Given the description of an element on the screen output the (x, y) to click on. 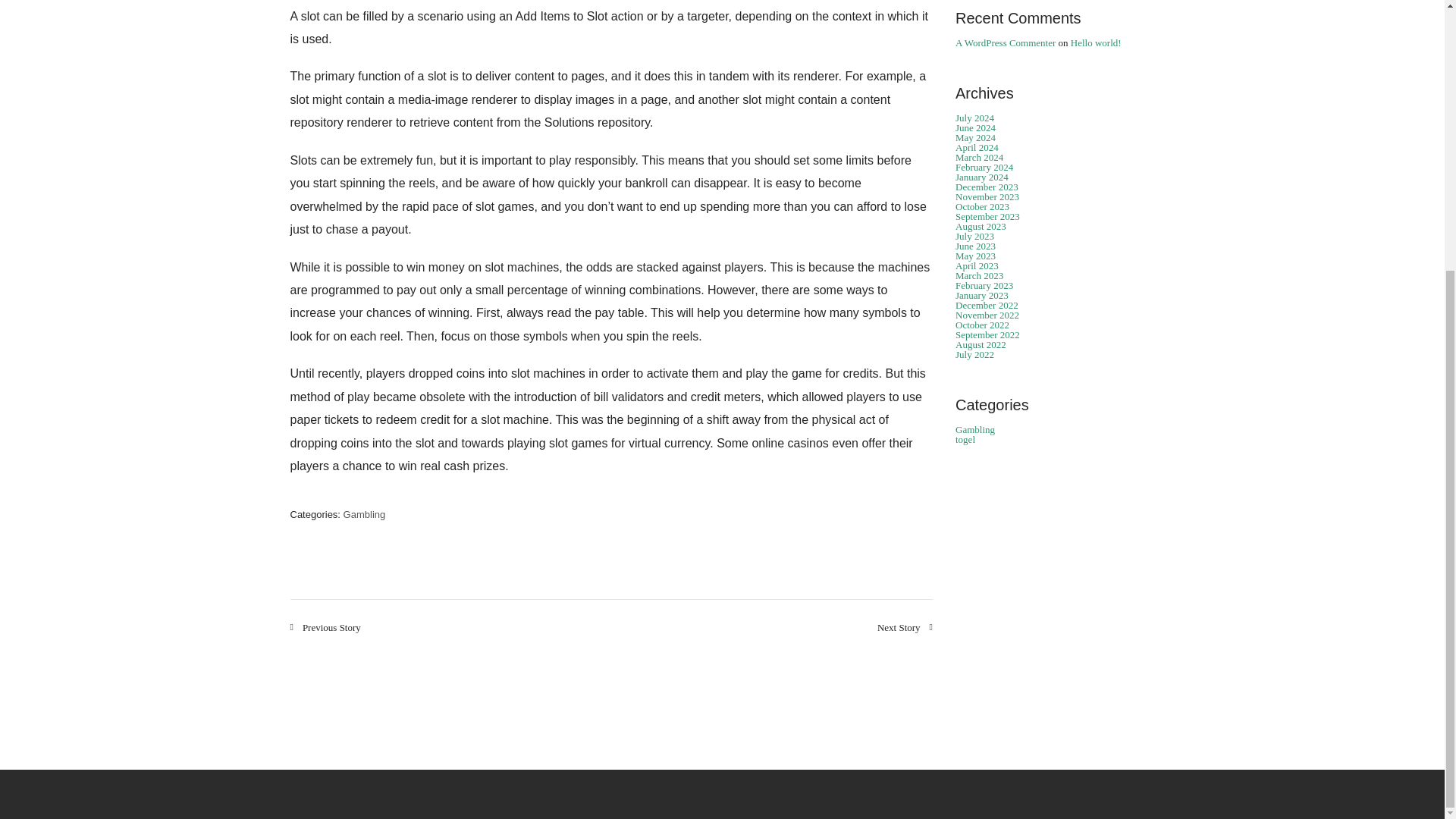
November 2022 (987, 315)
Hello world! (1095, 42)
October 2023 (982, 206)
August 2022 (980, 344)
November 2023 (987, 196)
June 2024 (975, 127)
February 2023 (984, 285)
September 2022 (987, 334)
May 2023 (975, 255)
August 2023 (980, 225)
January 2023 (982, 295)
October 2022 (982, 324)
December 2023 (986, 186)
June 2023 (975, 245)
April 2023 (976, 265)
